Given the description of an element on the screen output the (x, y) to click on. 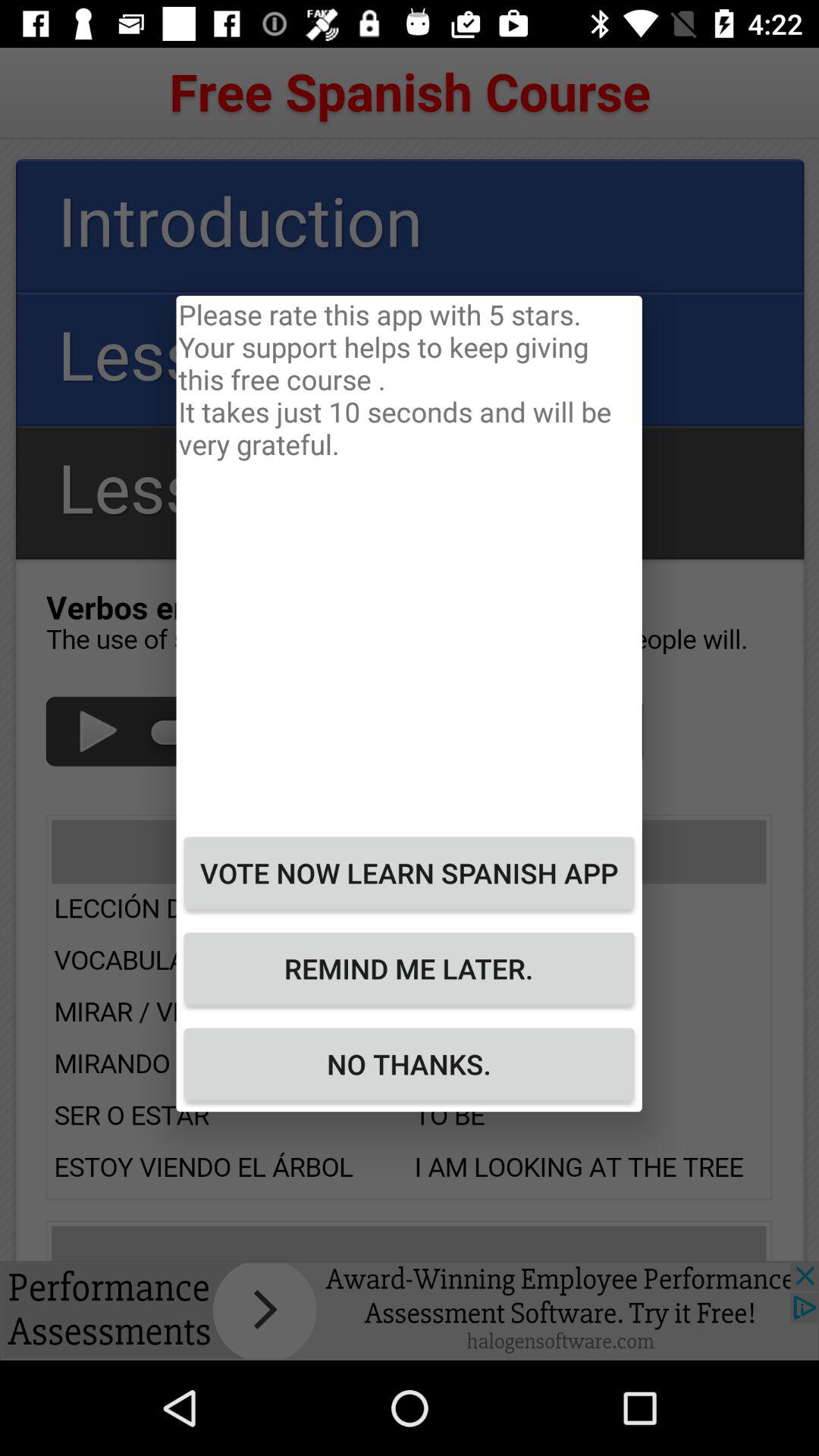
open the button at the bottom (409, 1063)
